Given the description of an element on the screen output the (x, y) to click on. 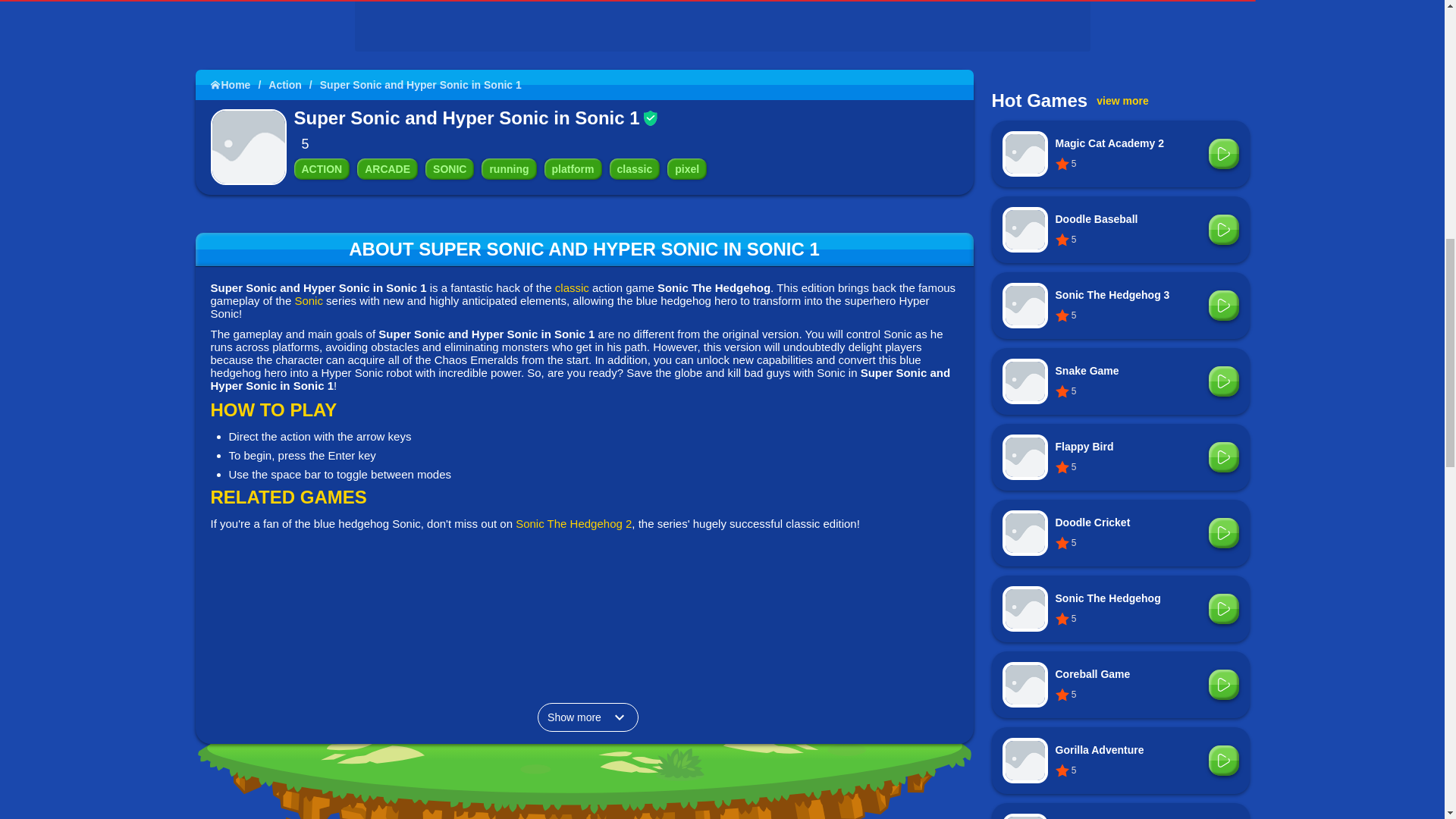
ACTION (322, 168)
ARCADE (386, 168)
Action (322, 168)
Action (292, 84)
Home (240, 84)
Arcade (386, 168)
Sonic (449, 168)
